Given the description of an element on the screen output the (x, y) to click on. 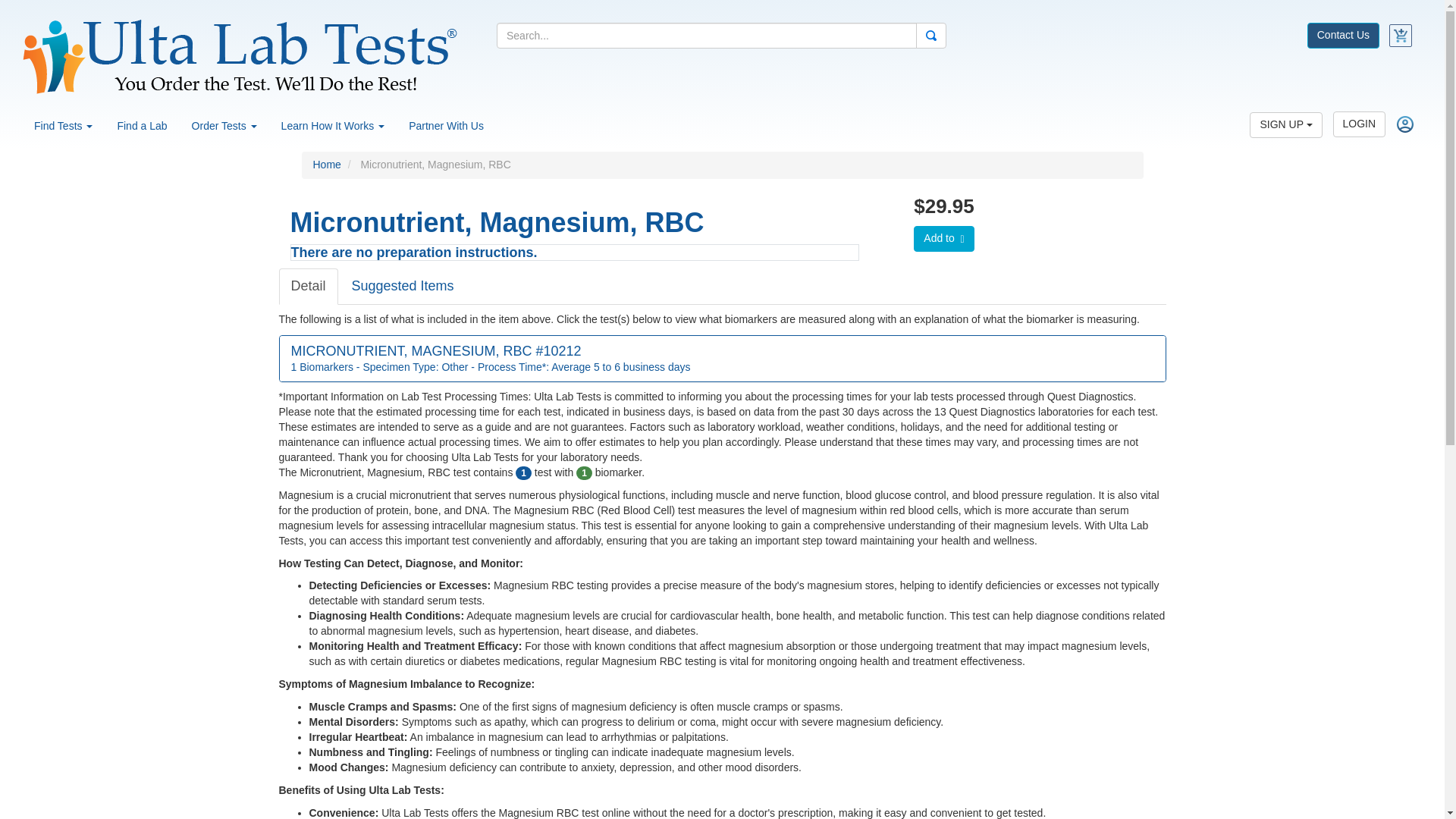
Search (930, 35)
Find Tests (63, 126)
Add to Cart (944, 238)
Contact Us (1342, 33)
